Given the description of an element on the screen output the (x, y) to click on. 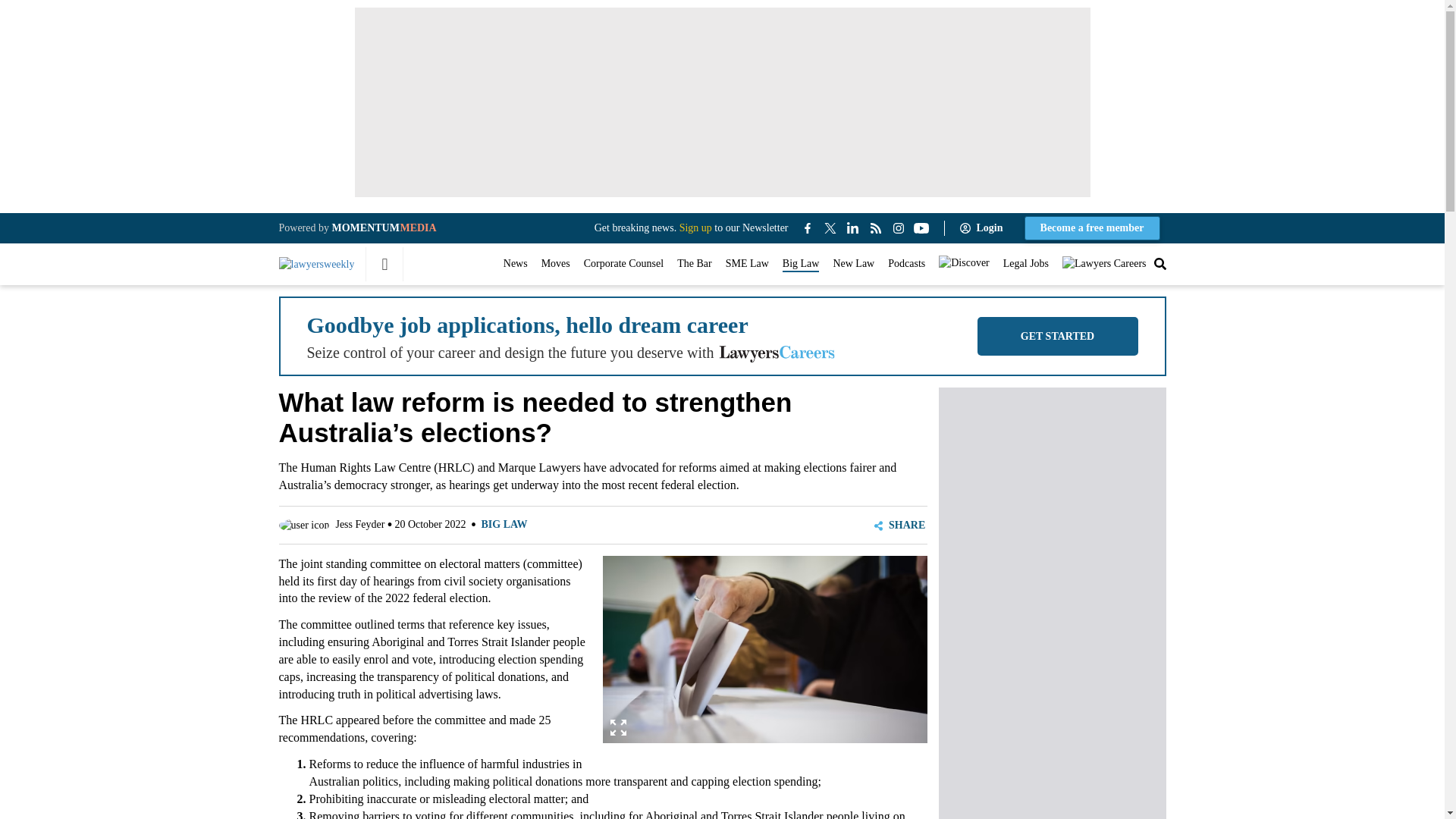
Login (984, 227)
MOMENTUM MEDIA (383, 227)
Sign up (695, 227)
Become a free member (1092, 228)
